Given the description of an element on the screen output the (x, y) to click on. 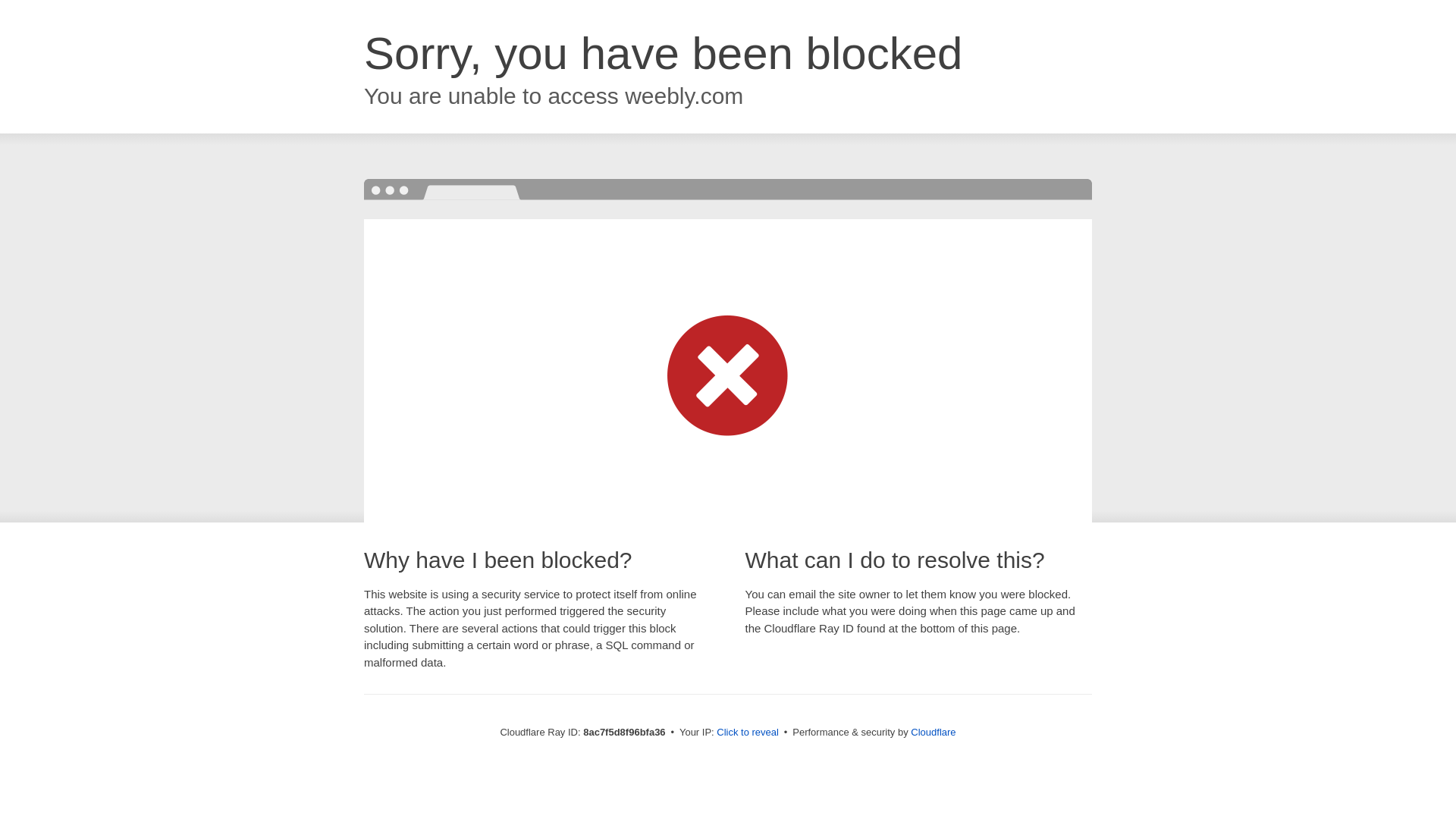
Click to reveal (747, 732)
Cloudflare (933, 731)
